Given the description of an element on the screen output the (x, y) to click on. 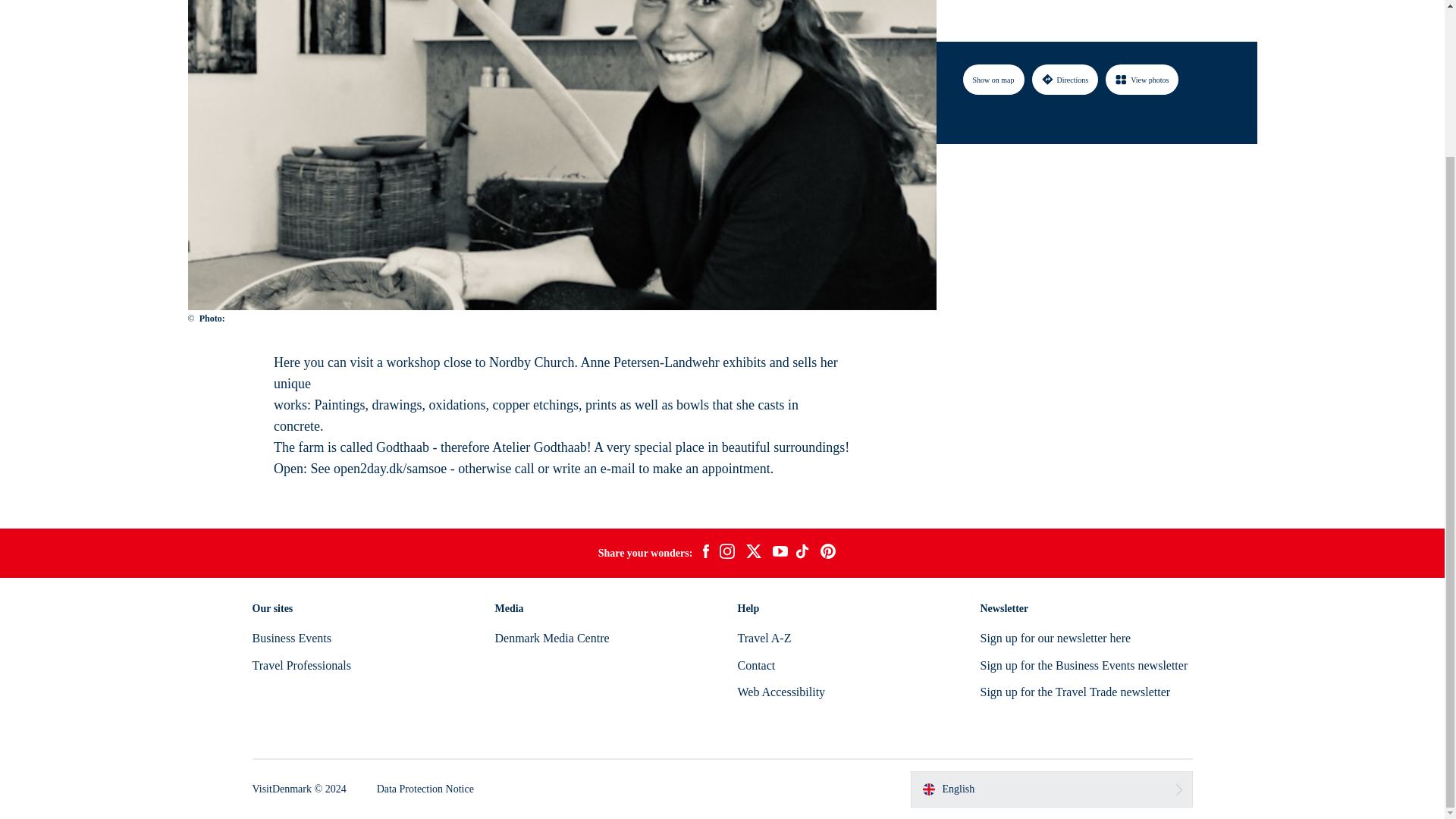
Contact (755, 665)
Business Events (290, 637)
Travel A-Z (763, 637)
Denmark Media Centre (551, 637)
Data Protection Notice (425, 789)
Web Accessibility (780, 691)
Travel Professionals (300, 665)
instagram (726, 553)
Directions (1063, 4)
Web Accessibility (780, 691)
